Given the description of an element on the screen output the (x, y) to click on. 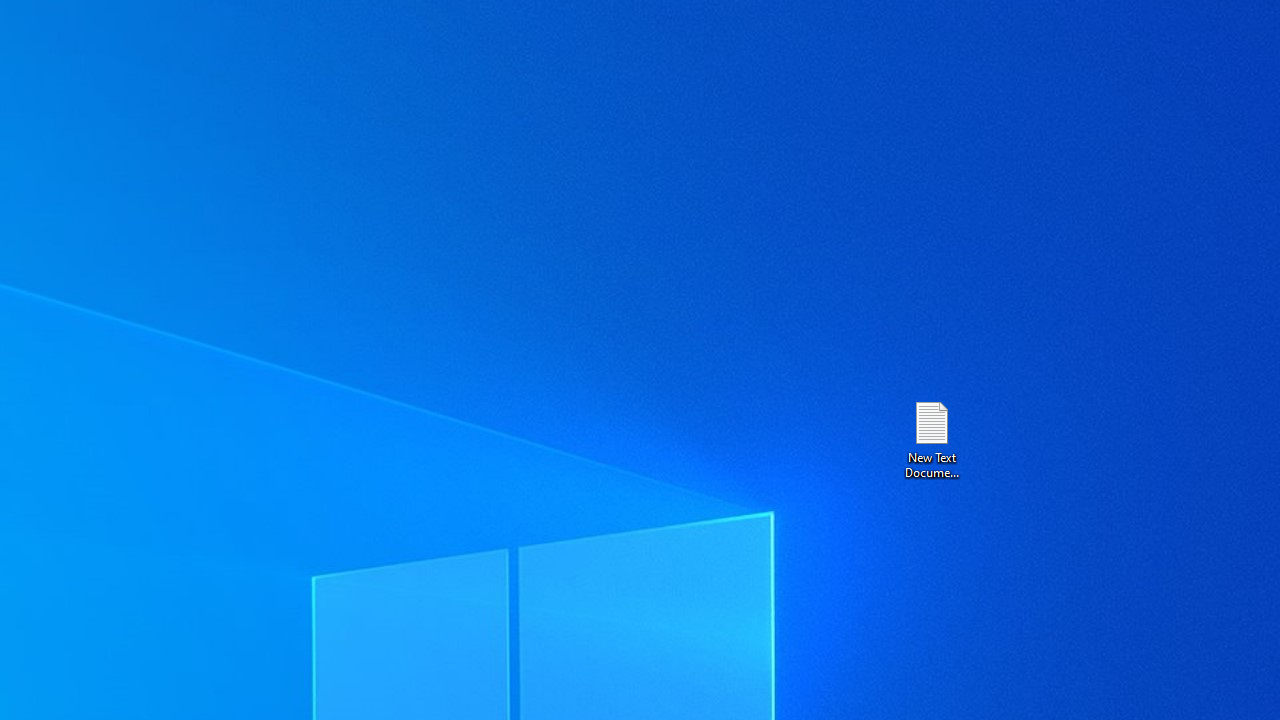
New Text Document (2) (931, 438)
